Given the description of an element on the screen output the (x, y) to click on. 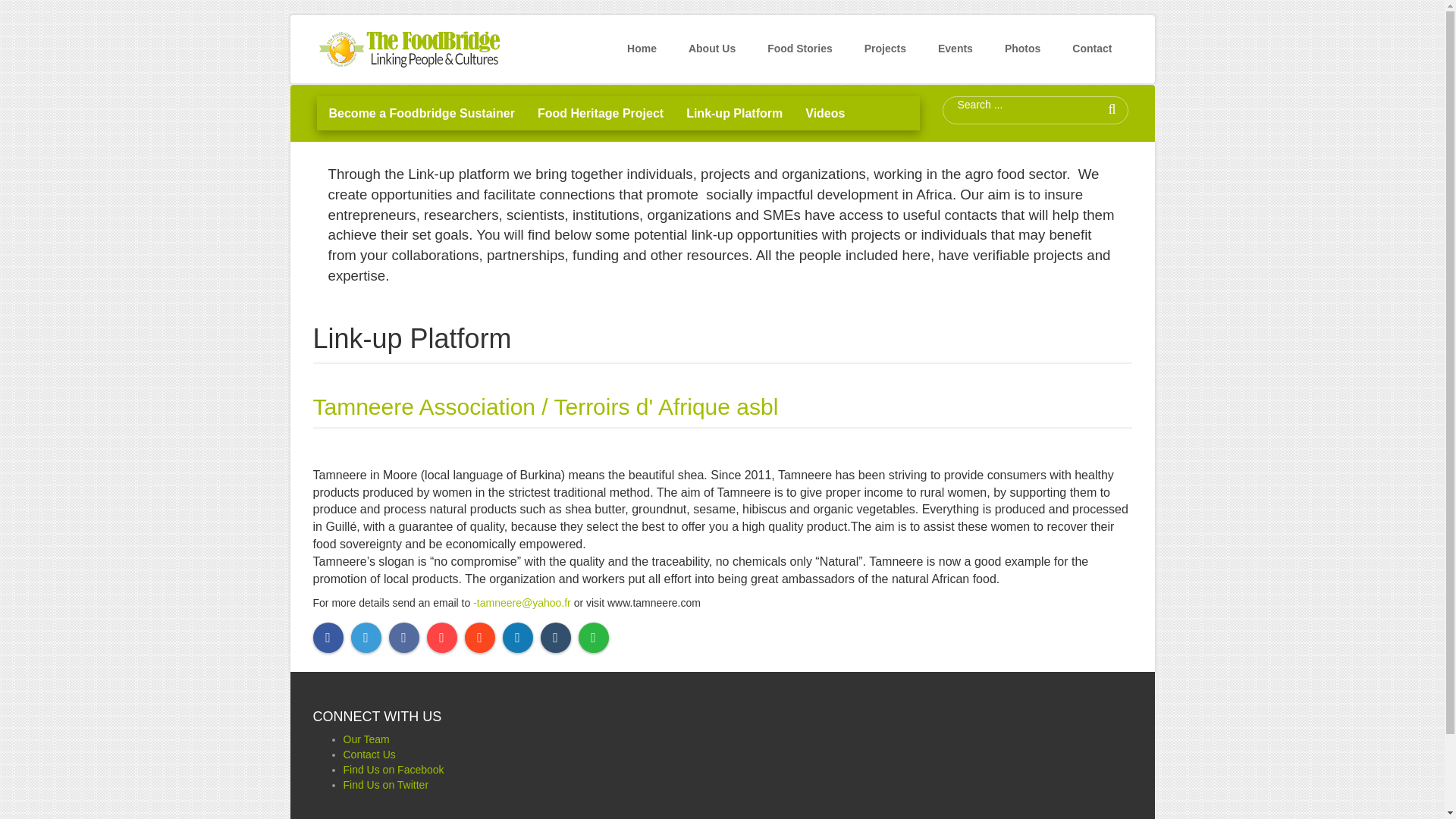
Home (641, 49)
Contact Us (368, 754)
Search ... (1009, 104)
Link-up Platform (734, 113)
Find Us on Twitter (385, 784)
Events (954, 49)
Contact (1091, 49)
About Us (711, 49)
Food Stories (799, 49)
Photos (1022, 49)
Videos (824, 113)
Food Heritage Project (600, 113)
Projects (884, 49)
Search ... (1009, 104)
Find Us on Facebook (393, 769)
